Given the description of an element on the screen output the (x, y) to click on. 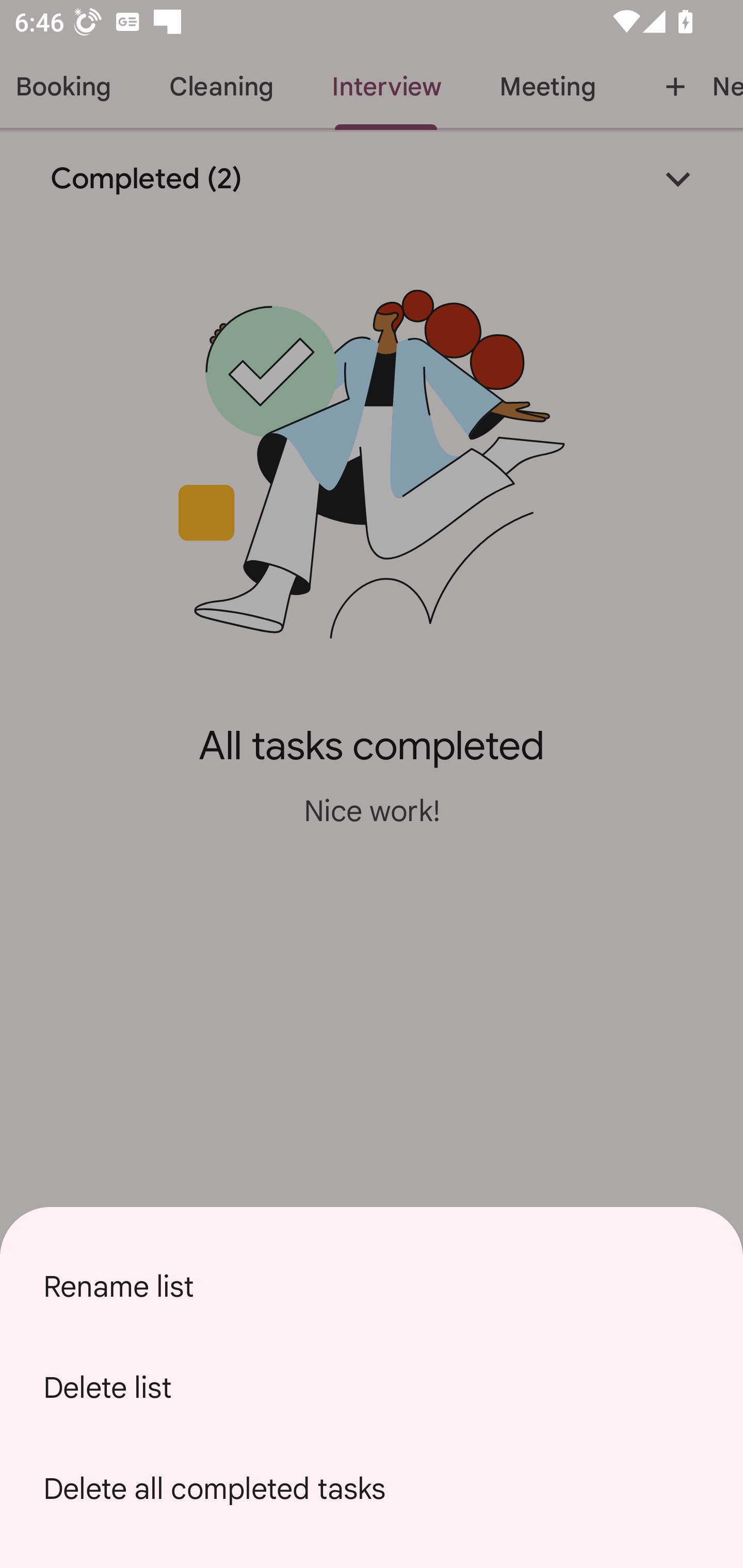
Rename list (371, 1286)
Delete list (371, 1387)
Delete all completed tasks (371, 1488)
